Given the description of an element on the screen output the (x, y) to click on. 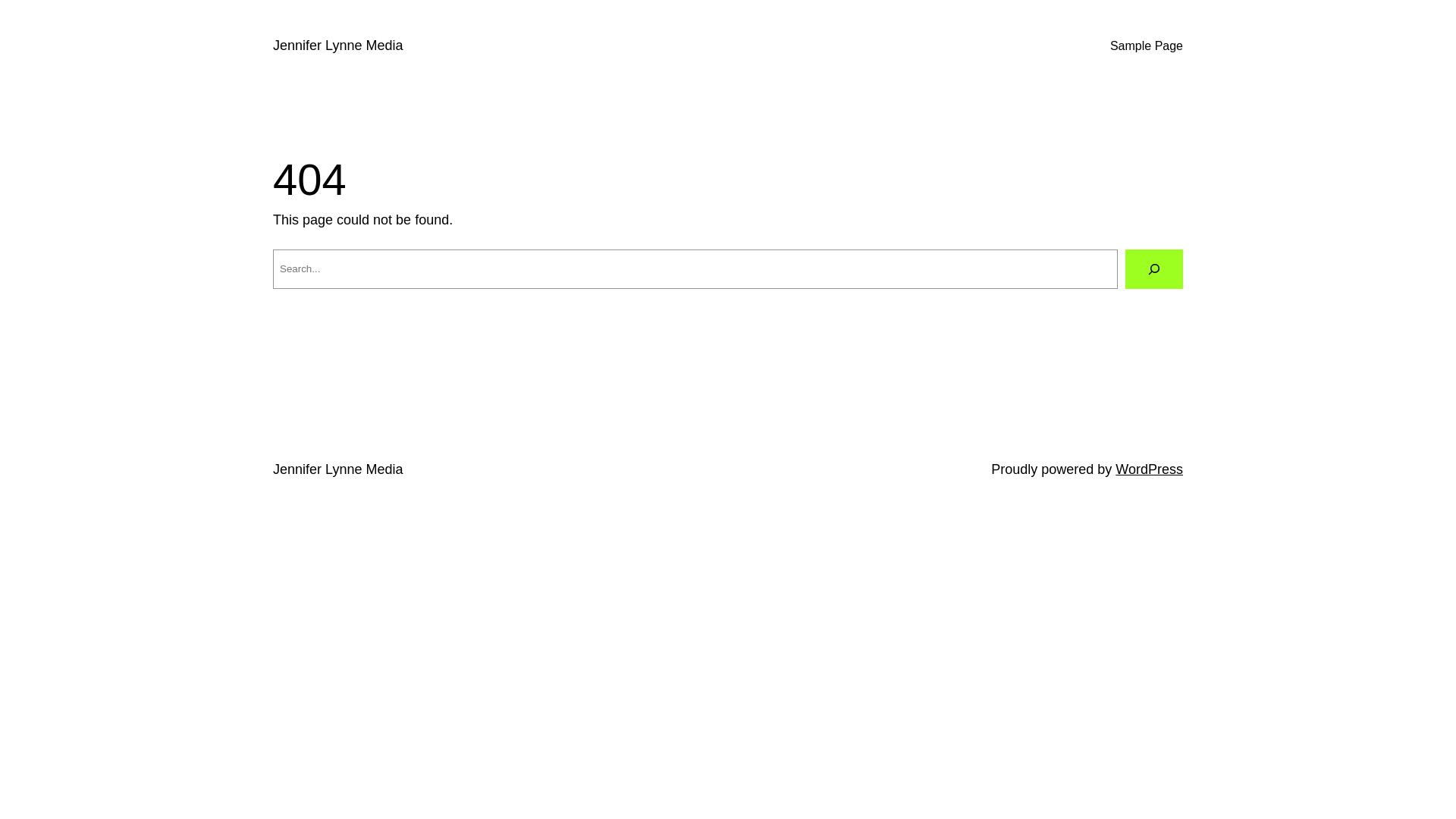
Sample Page Element type: text (1146, 46)
Jennifer Lynne Media Element type: text (337, 468)
WordPress Element type: text (1149, 468)
Jennifer Lynne Media Element type: text (337, 45)
